Given the description of an element on the screen output the (x, y) to click on. 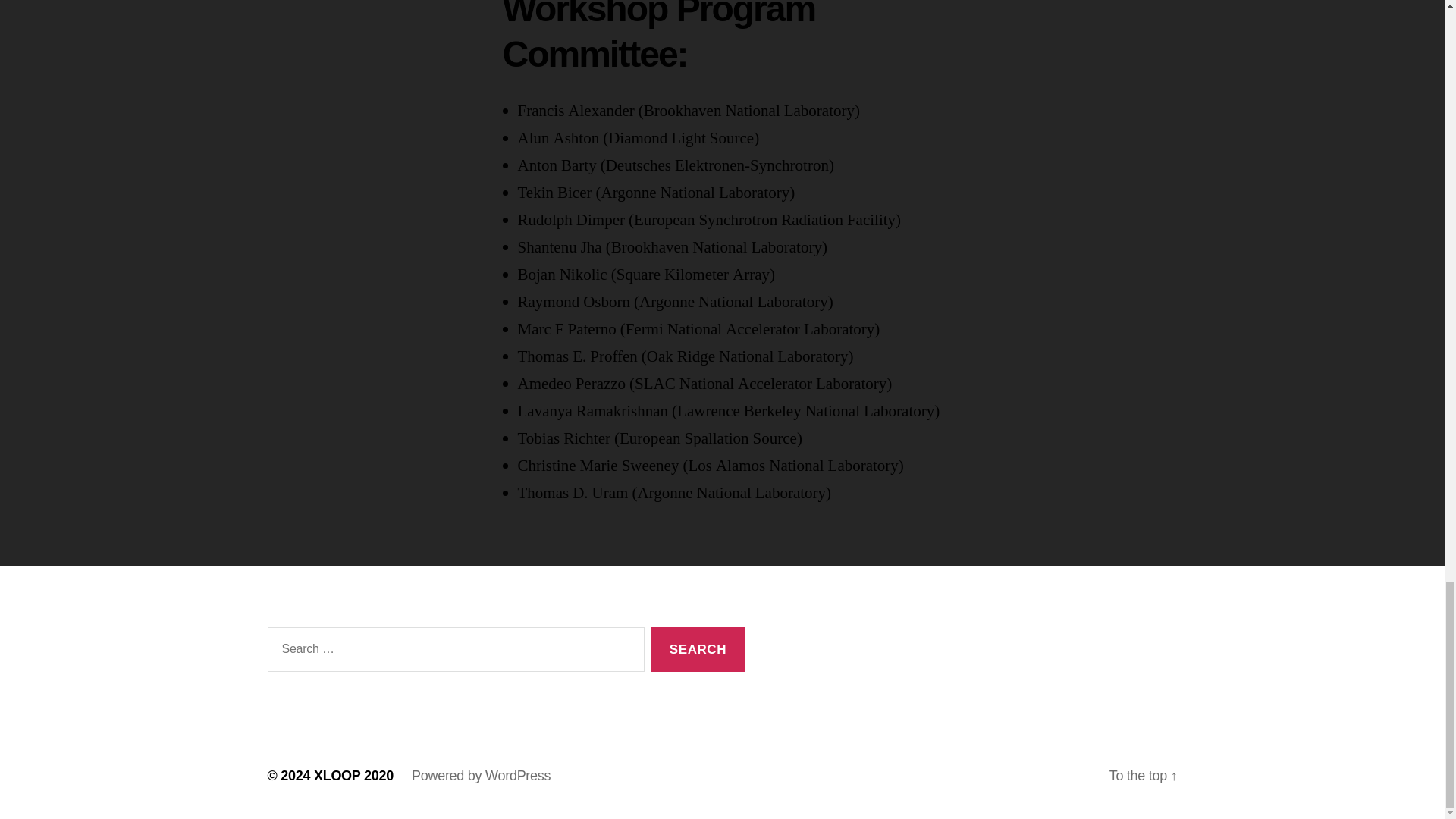
Search (697, 649)
XLOOP 2020 (353, 775)
Search (697, 649)
Powered by WordPress (481, 775)
Search (697, 649)
